Given the description of an element on the screen output the (x, y) to click on. 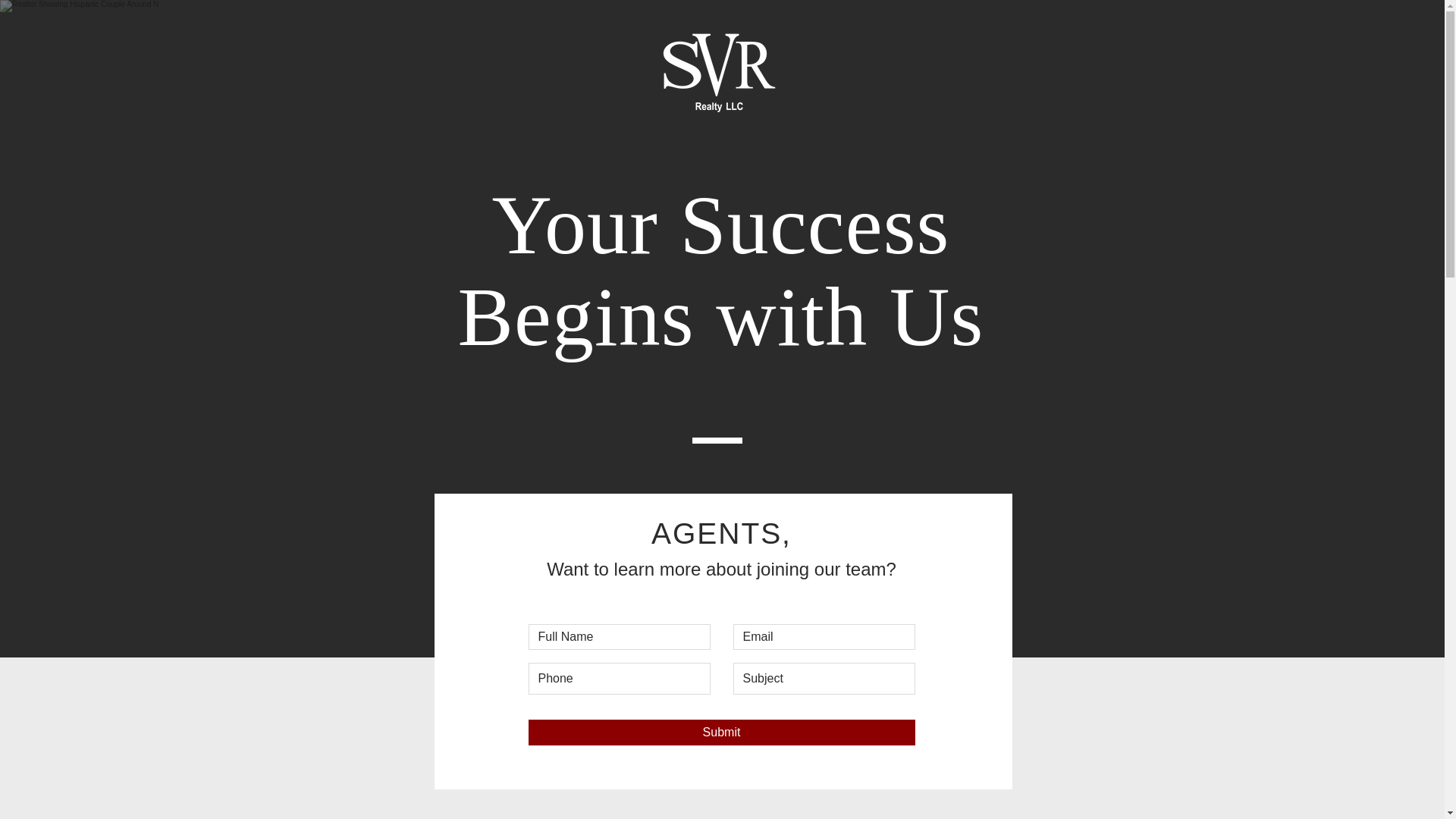
Submit (720, 732)
